Given the description of an element on the screen output the (x, y) to click on. 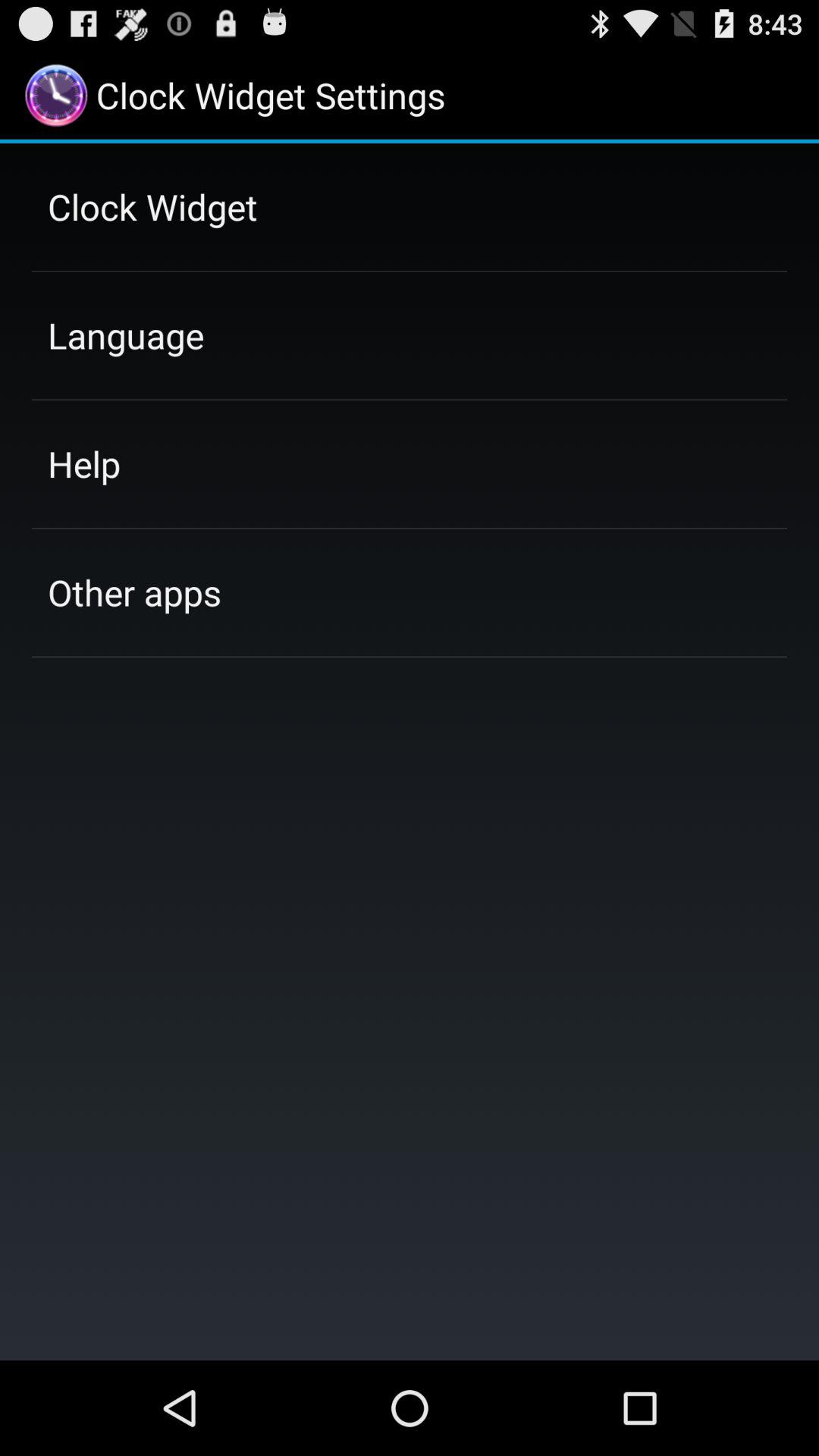
press the icon below the clock widget (125, 335)
